Given the description of an element on the screen output the (x, y) to click on. 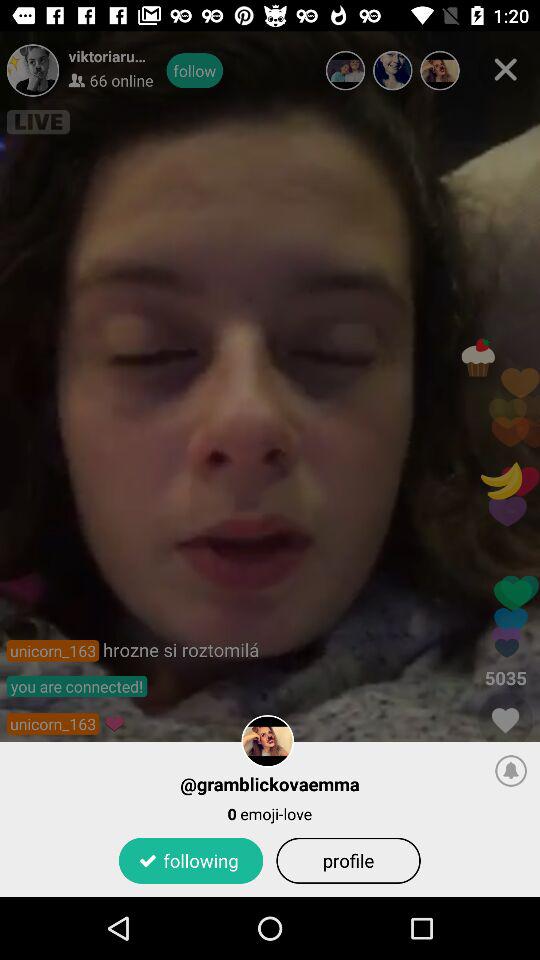
press the alarm (511, 770)
